Given the description of an element on the screen output the (x, y) to click on. 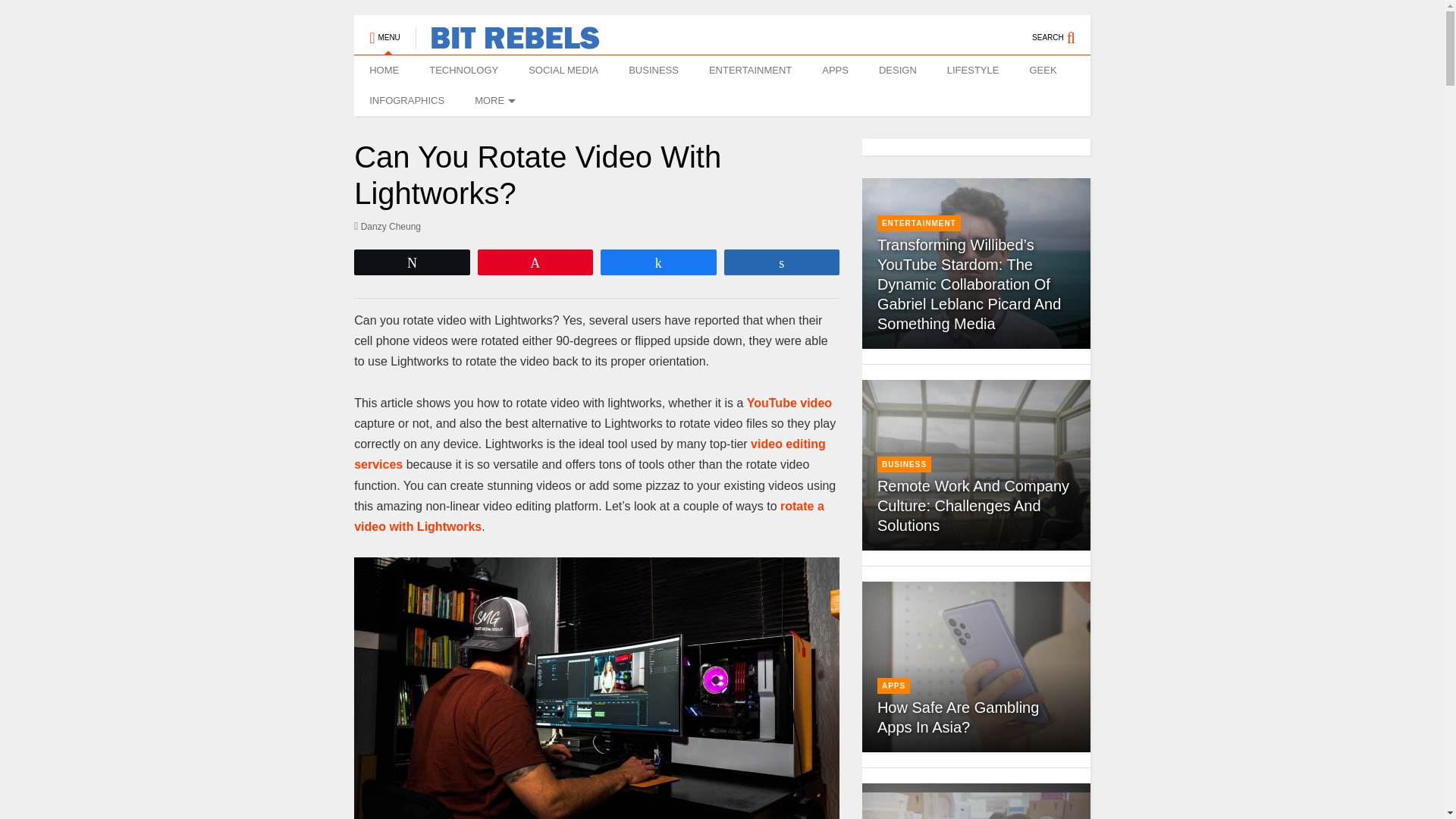
Danzy Cheung (386, 226)
MENU (383, 30)
SEARCH (1061, 30)
SOCIAL MEDIA (562, 70)
GEEK (1042, 70)
MORE (493, 100)
How Safe Are Gambling Apps In Asia? (958, 717)
BUSINESS (653, 70)
How Safe Are Gambling Apps In Asia? (975, 666)
10 Ways Projectors Are Transforming Educational Spaces (975, 805)
Remote Work And Company Culture: Challenges And Solutions (976, 465)
ENTERTAINMENT (750, 70)
Bit Rebels (506, 42)
LIFESTYLE (972, 70)
HOME (383, 70)
